Given the description of an element on the screen output the (x, y) to click on. 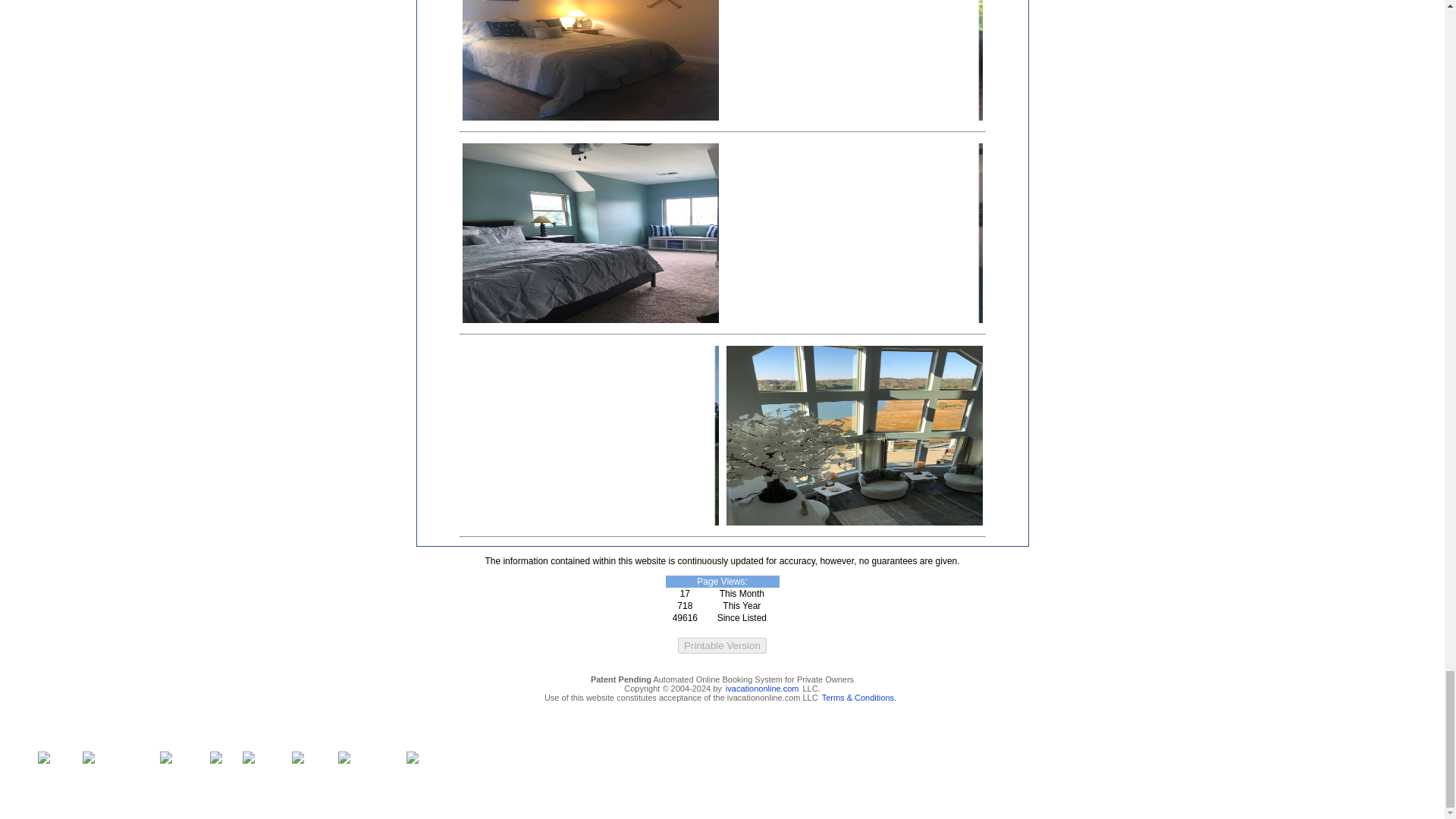
Websites (191, 756)
Travel Insurance (127, 756)
Owners (21, 756)
Blog (232, 756)
Printable Version (722, 645)
Domains (273, 756)
Sitemap (320, 756)
ivacationonline.com (762, 687)
Rentals (66, 756)
